Given the description of an element on the screen output the (x, y) to click on. 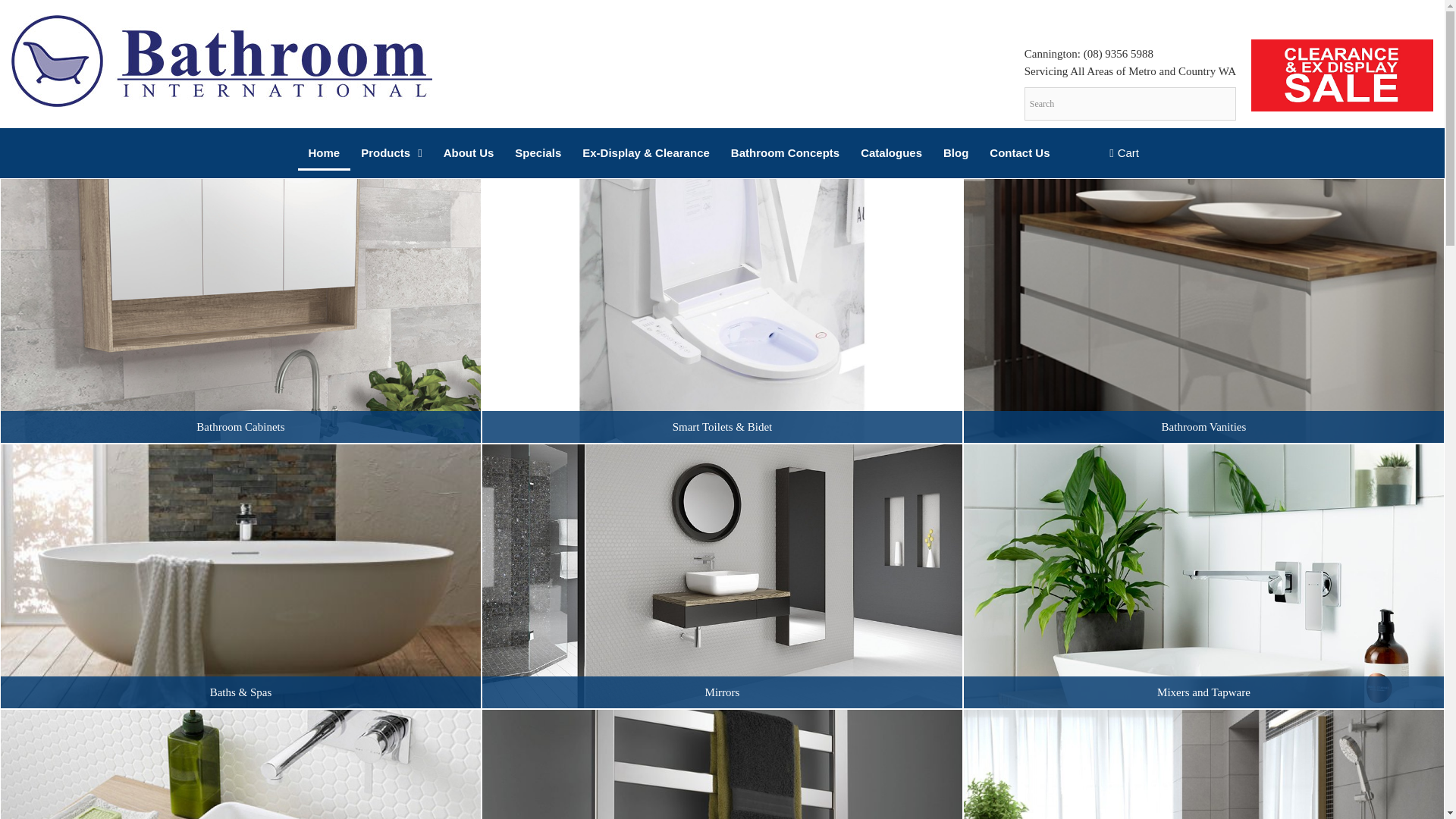
Home (323, 152)
Products (391, 152)
